Given the description of an element on the screen output the (x, y) to click on. 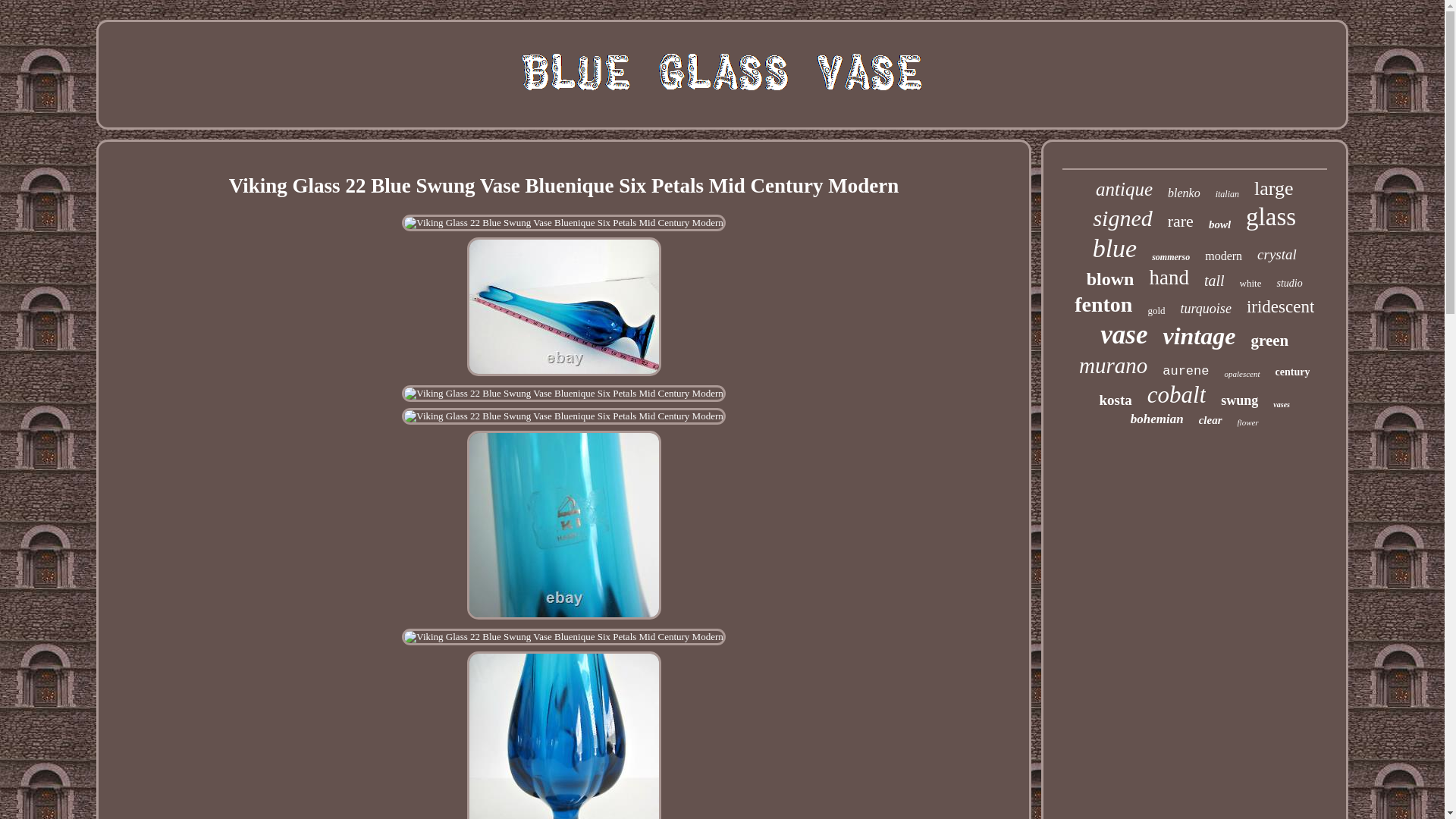
large (1273, 188)
blue (1115, 248)
modern (1223, 255)
italian (1227, 194)
murano (1112, 365)
blown (1110, 279)
